Given the description of an element on the screen output the (x, y) to click on. 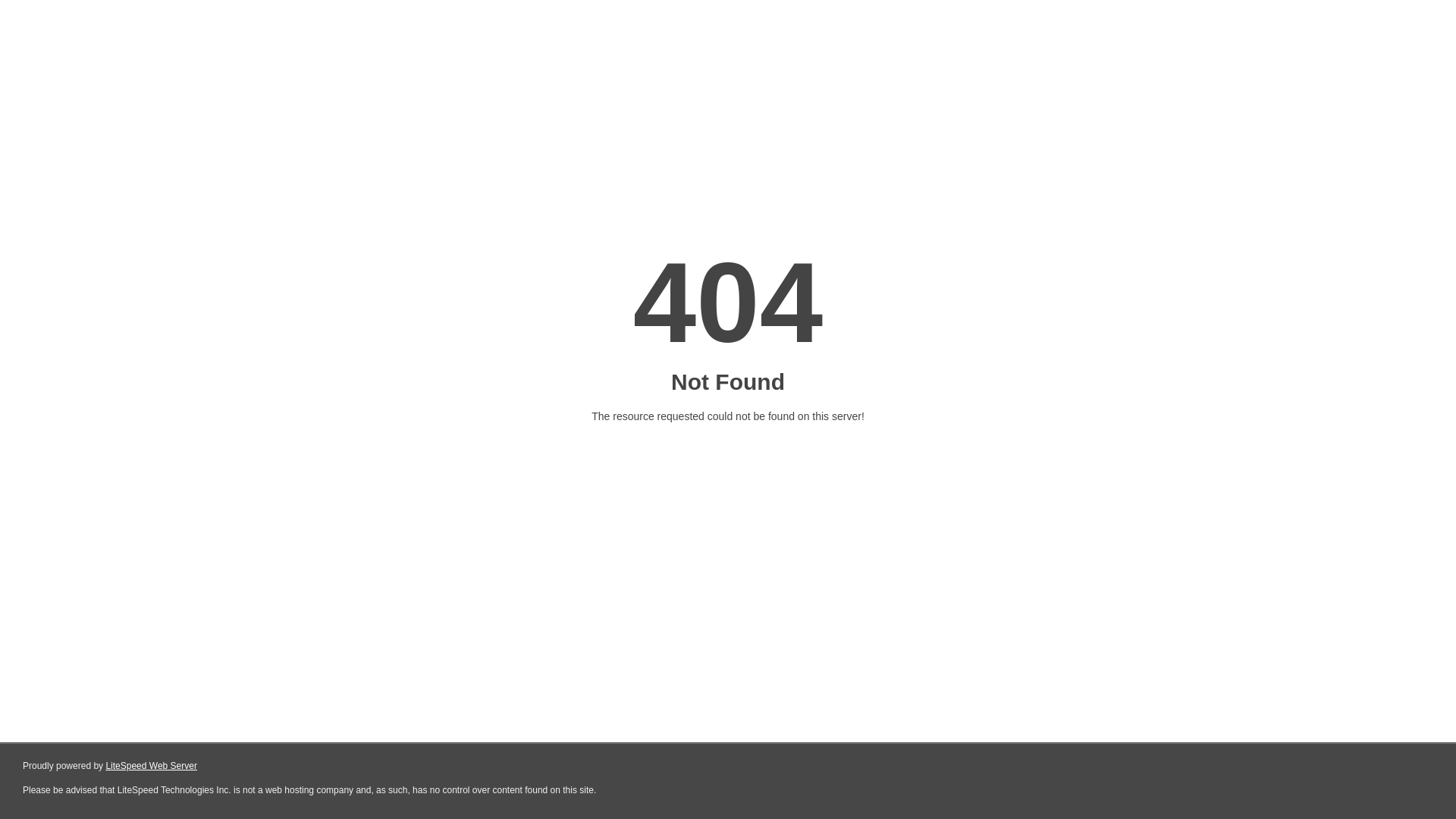
LiteSpeed Web Server Element type: text (151, 765)
